Given the description of an element on the screen output the (x, y) to click on. 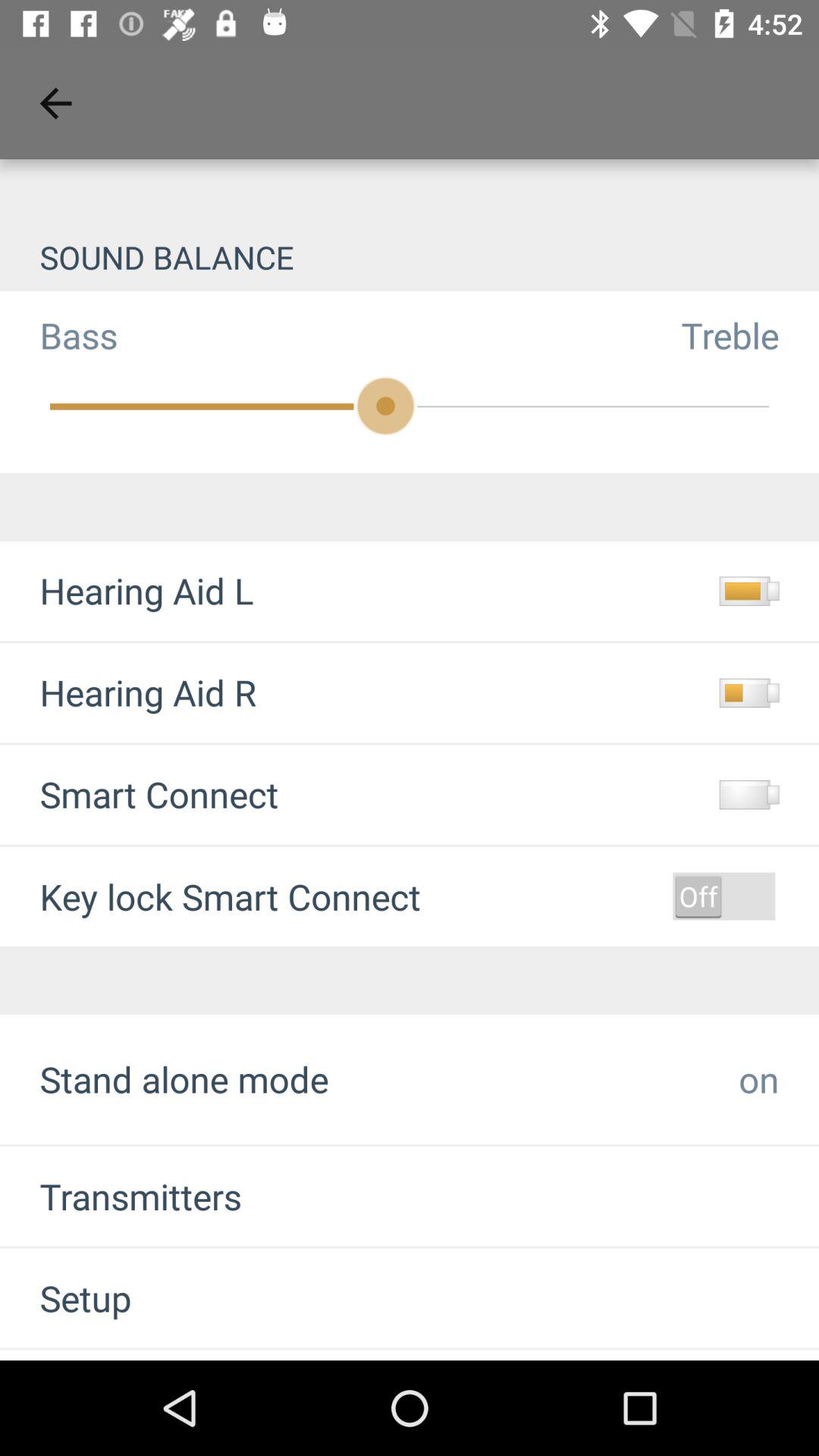
click the setup (65, 1297)
